Given the description of an element on the screen output the (x, y) to click on. 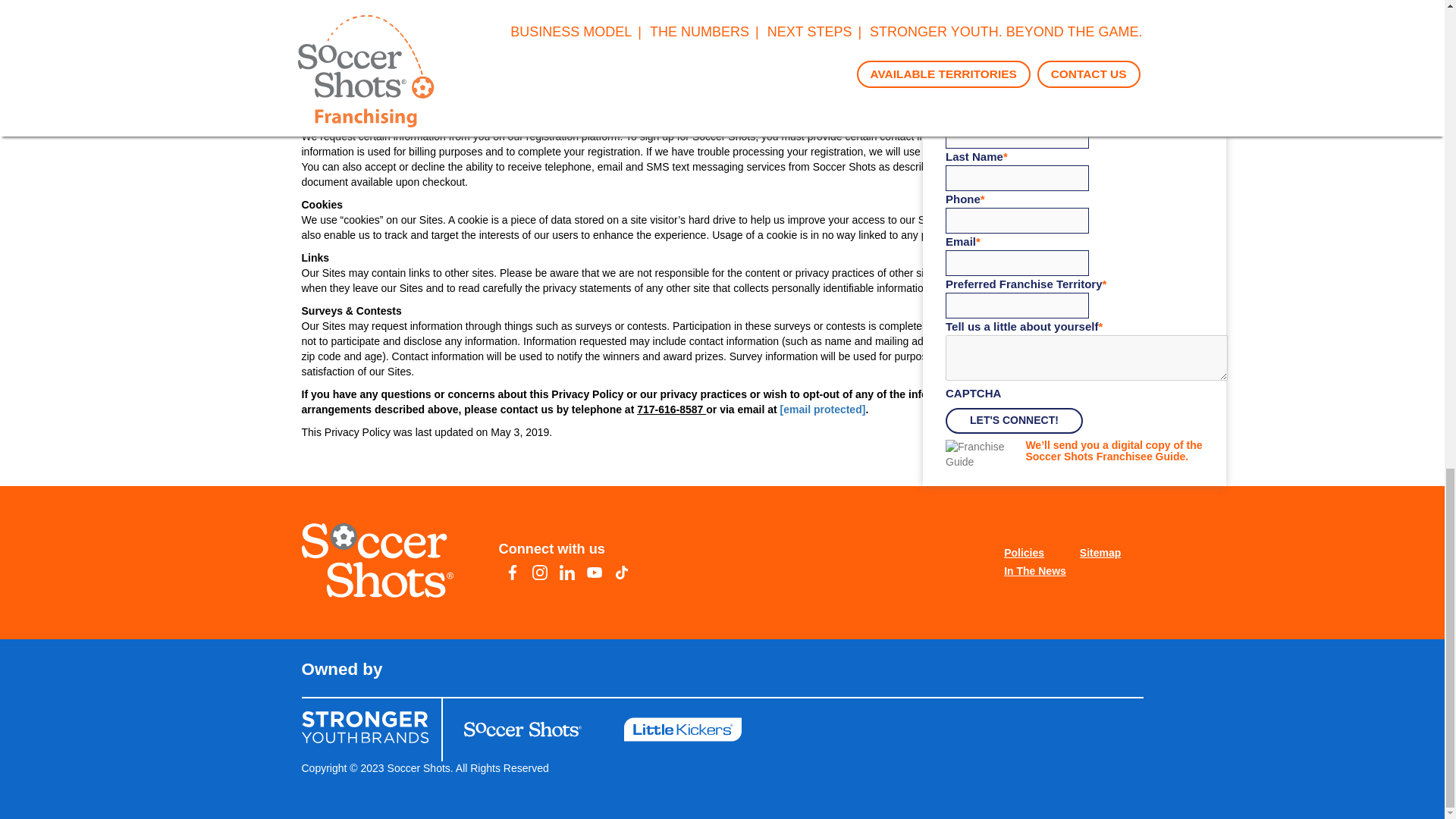
Facebook (512, 572)
LinkedIn (566, 572)
YouTube (594, 572)
TikTok (621, 572)
Sitemap (1110, 553)
Policies (1035, 553)
In The News (1035, 571)
Instagram (539, 572)
